Given the description of an element on the screen output the (x, y) to click on. 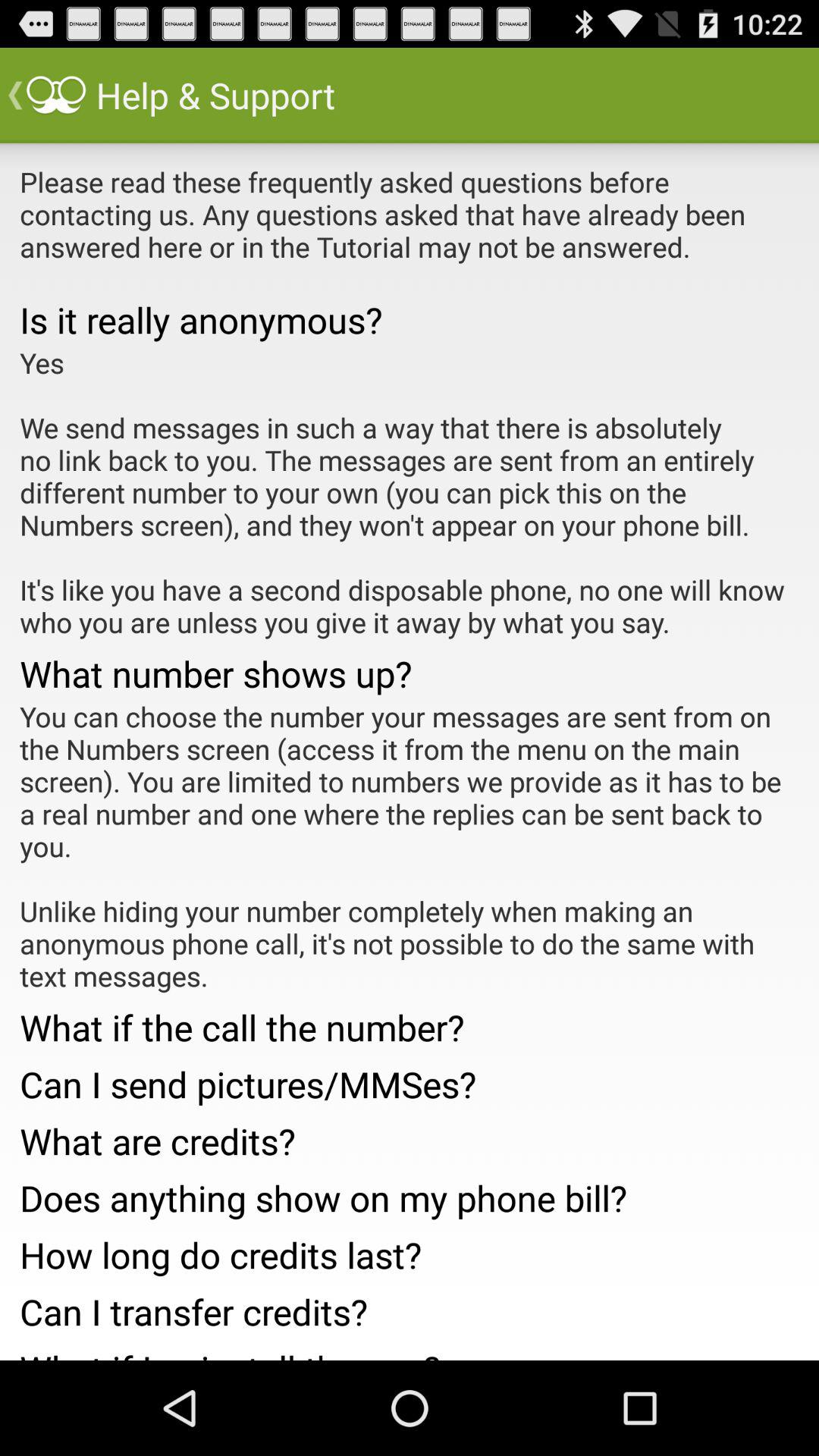
press the icon above the what if the icon (409, 845)
